Given the description of an element on the screen output the (x, y) to click on. 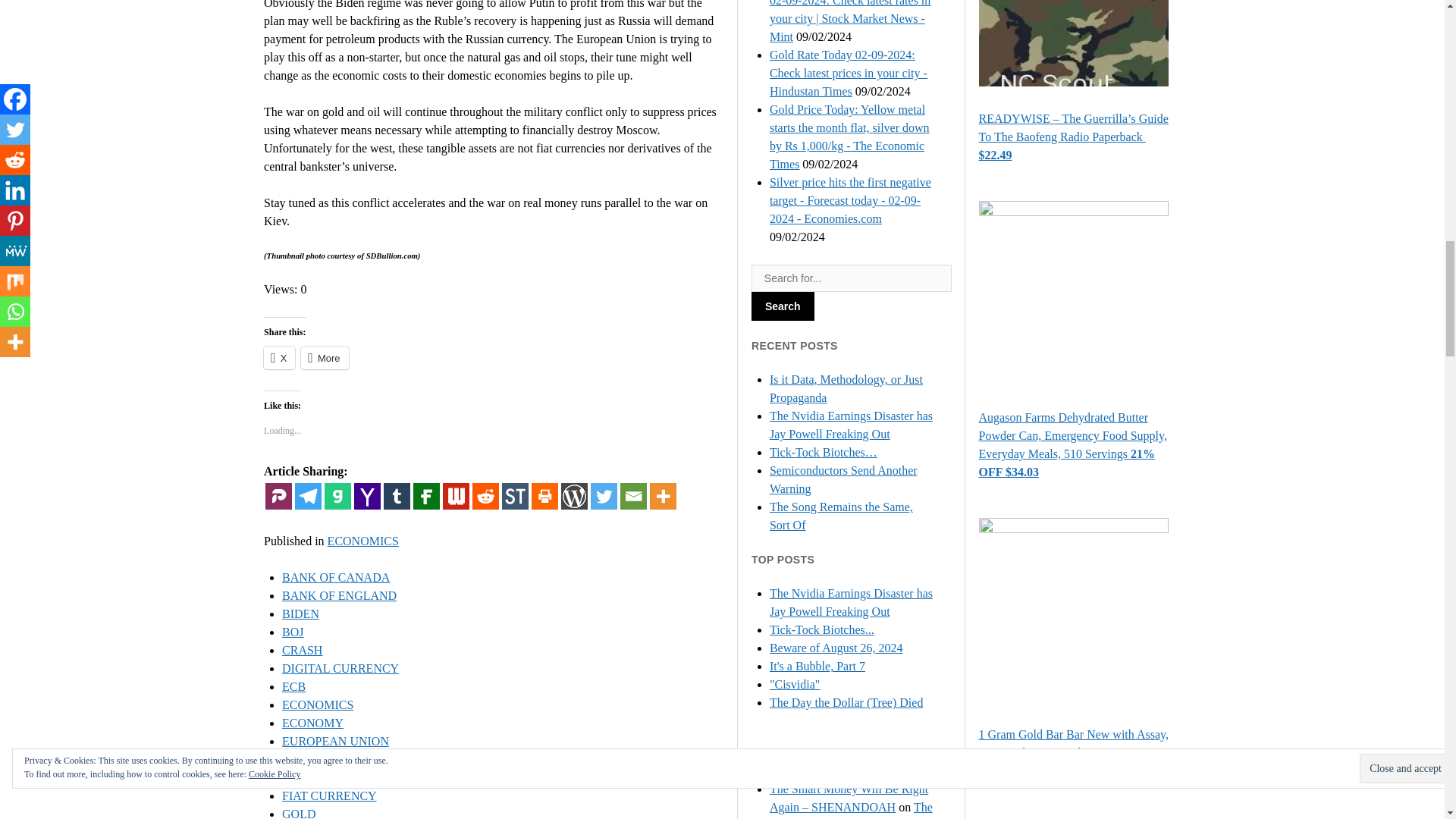
Click to share on X (279, 357)
More (324, 357)
Search (782, 306)
Tumblr (397, 496)
Telegram (308, 496)
Yahoo Mail (366, 496)
X (279, 357)
Gab (337, 496)
Parler (278, 496)
Search (782, 306)
